Given the description of an element on the screen output the (x, y) to click on. 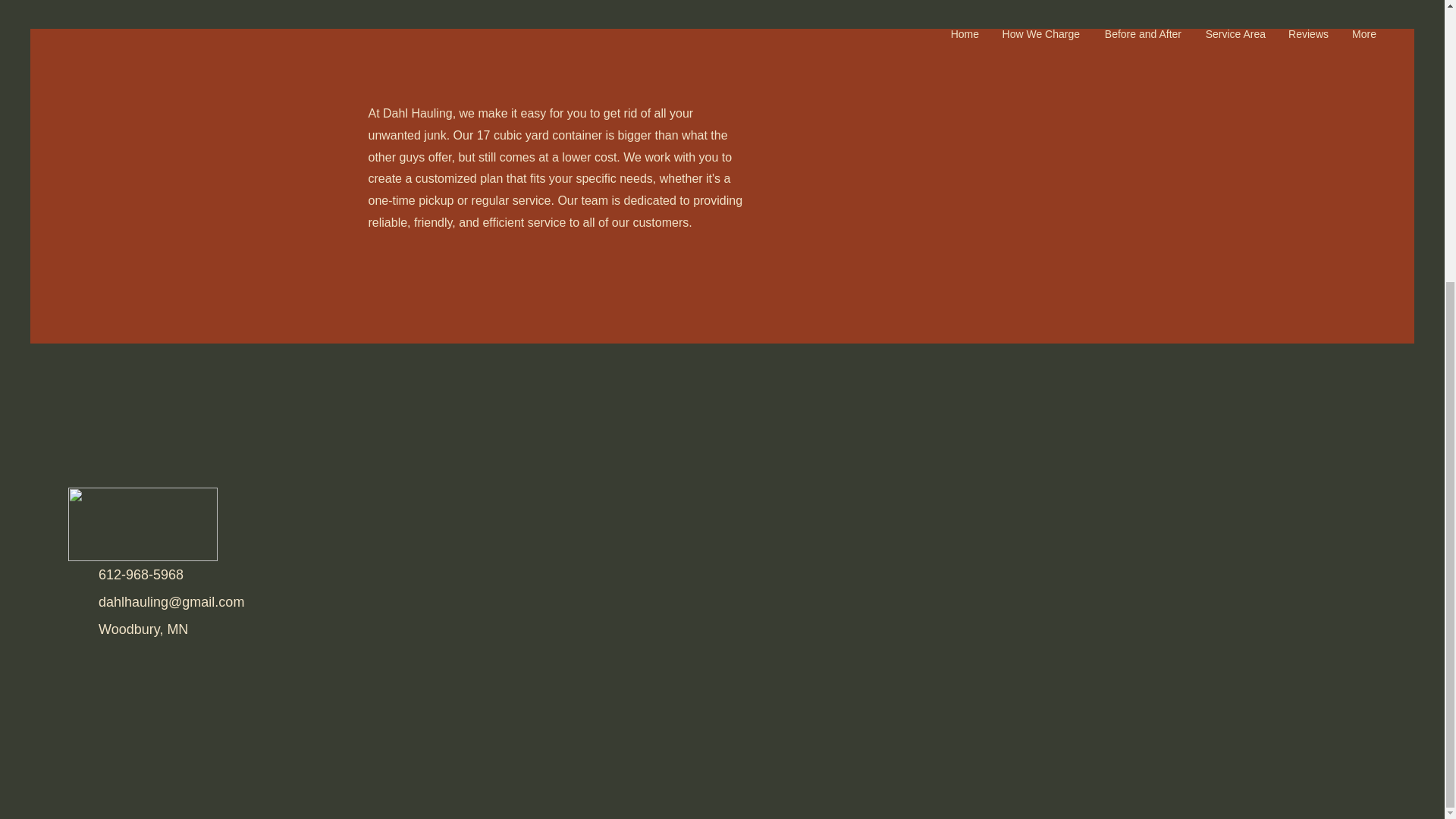
597B4E0B-319D-4C94-8AFA-F0F79013ADC7.PNG (142, 524)
